Given the description of an element on the screen output the (x, y) to click on. 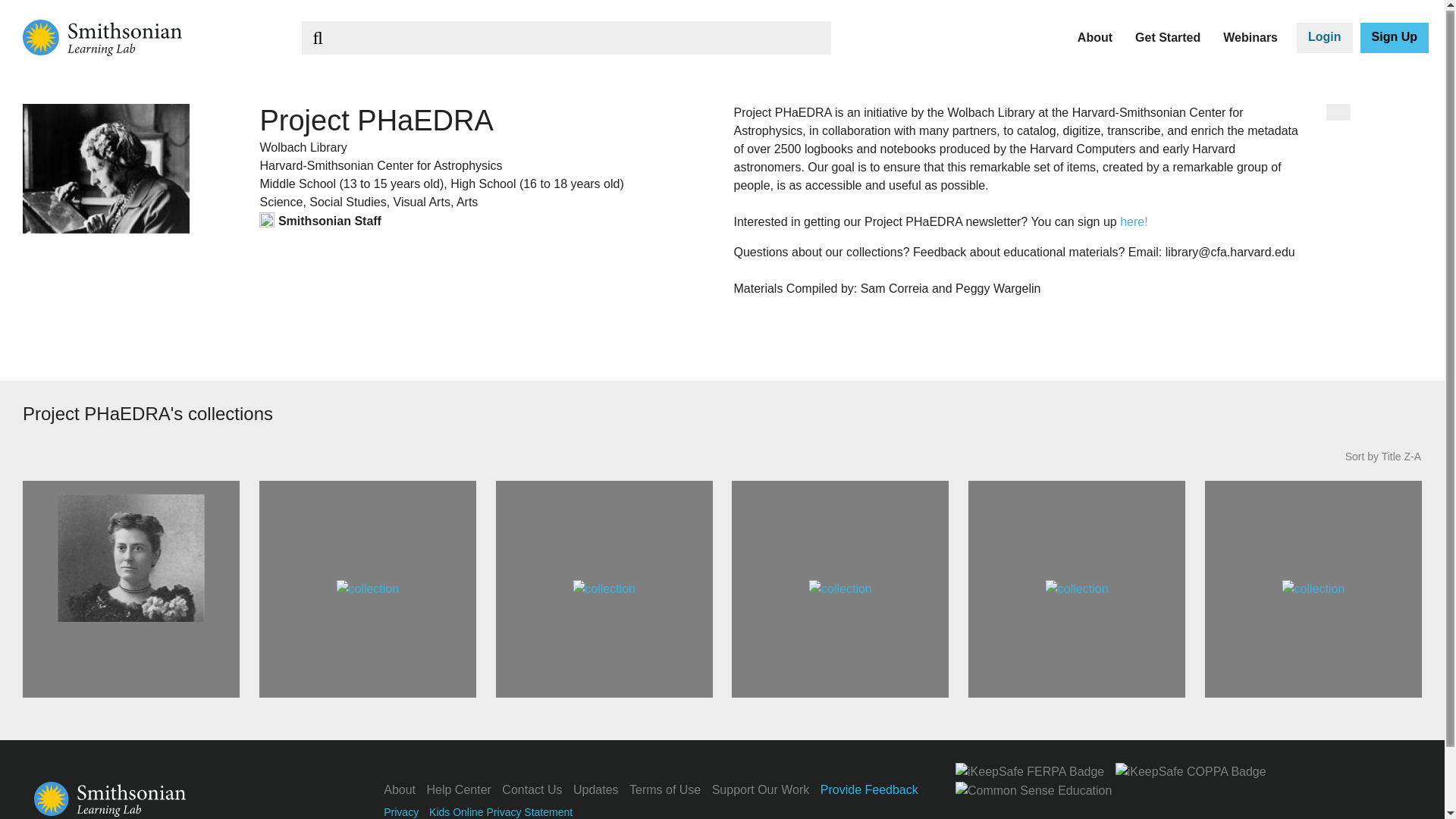
Sign Up (1393, 37)
Login (1324, 37)
Login (1324, 37)
Get Started (1167, 37)
About (1094, 37)
Favorites (327, 78)
Profile (317, 78)
Profile (317, 78)
Webinars (1250, 37)
Collections (625, 78)
